Given the description of an element on the screen output the (x, y) to click on. 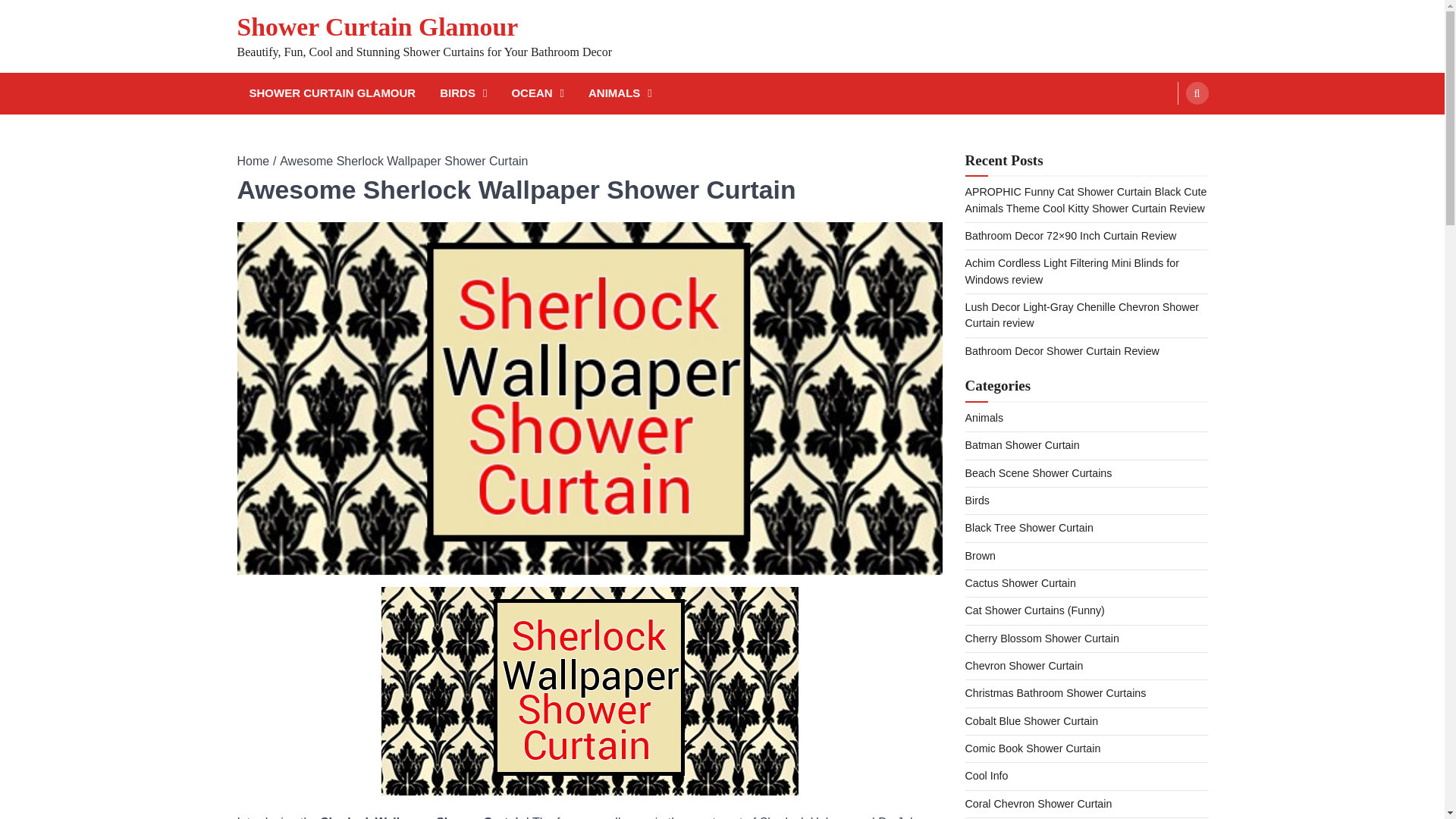
BIRDS (463, 93)
Home (252, 160)
OCEAN (537, 93)
ANIMALS (620, 93)
Search (1168, 128)
SHOWER CURTAIN GLAMOUR (332, 93)
Search (1197, 92)
Shower Curtain Glamour (376, 26)
